Given the description of an element on the screen output the (x, y) to click on. 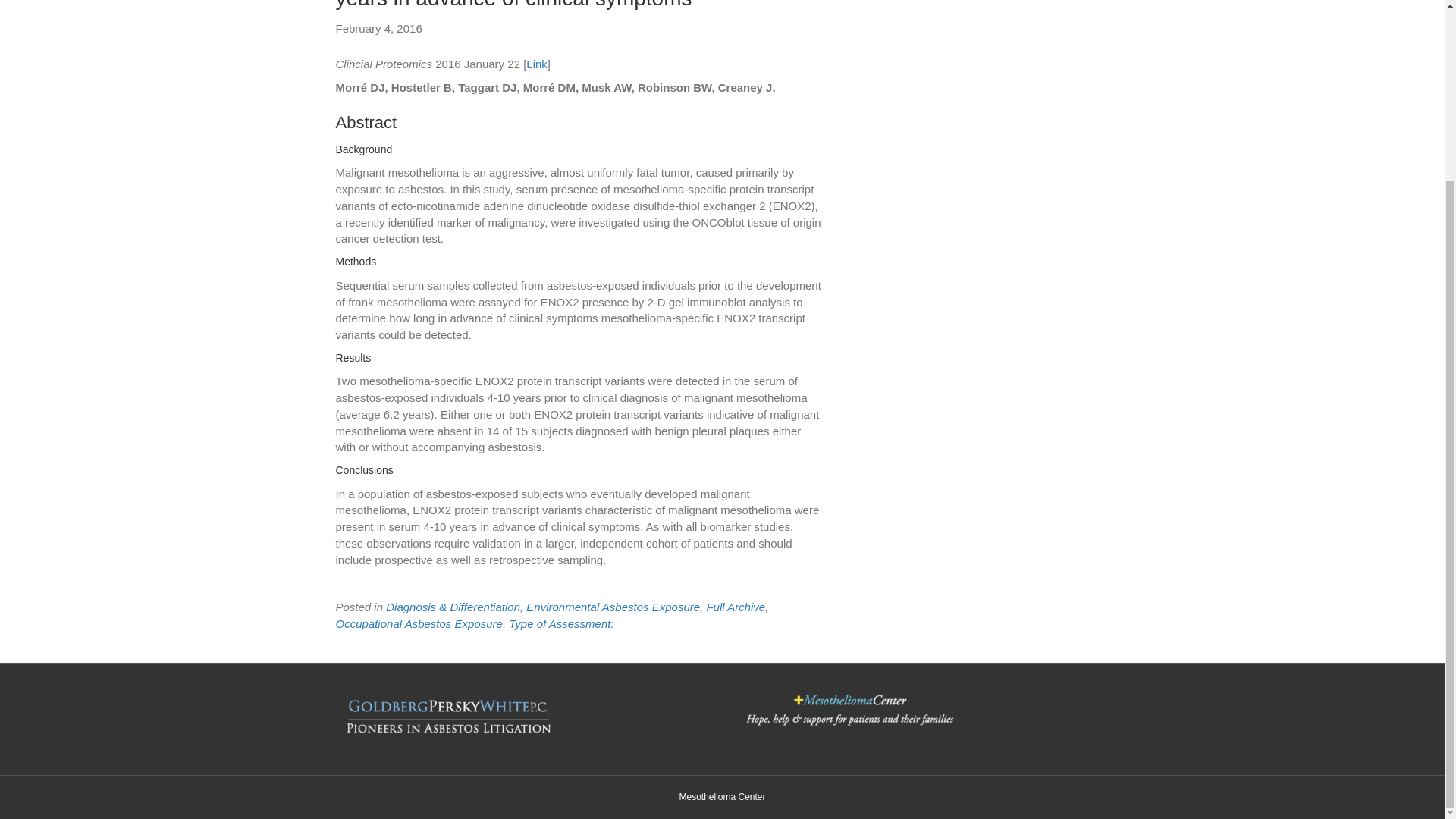
Environmental Asbestos Exposure (612, 606)
Full Archive (735, 606)
Link (536, 63)
Occupational Asbestos Exposure (418, 623)
Type of Assessment: (560, 623)
